Given the description of an element on the screen output the (x, y) to click on. 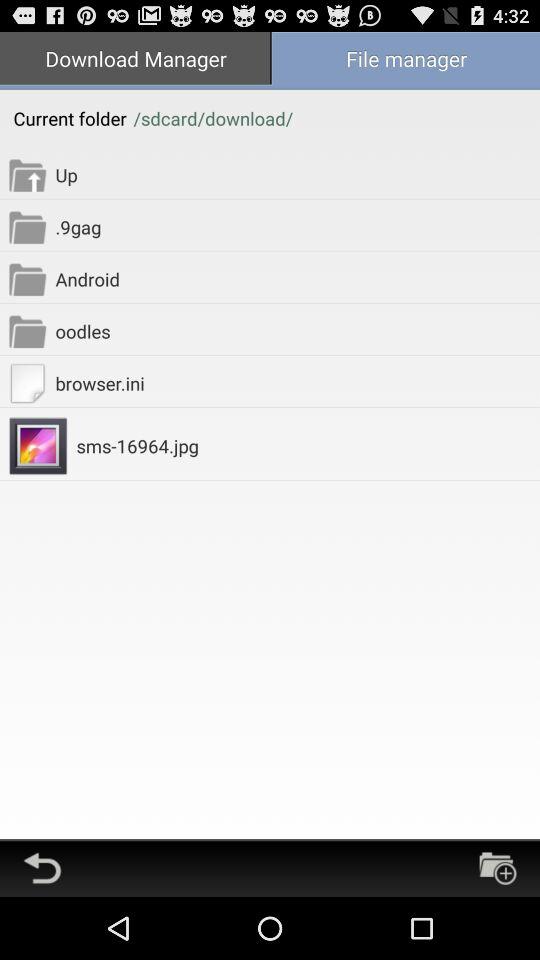
create new folder (498, 868)
